Given the description of an element on the screen output the (x, y) to click on. 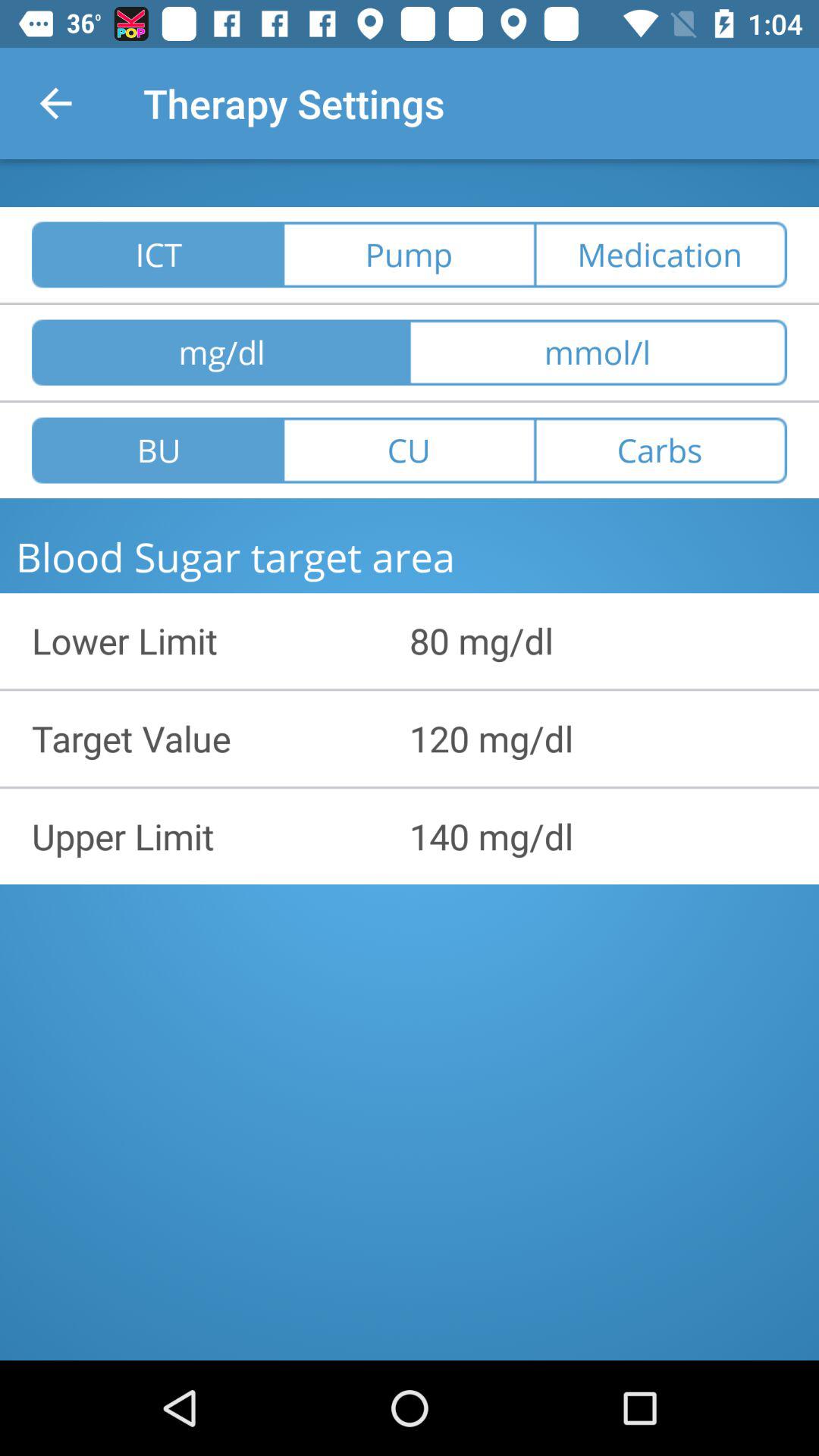
turn on item to the left of carbs item (409, 450)
